Given the description of an element on the screen output the (x, y) to click on. 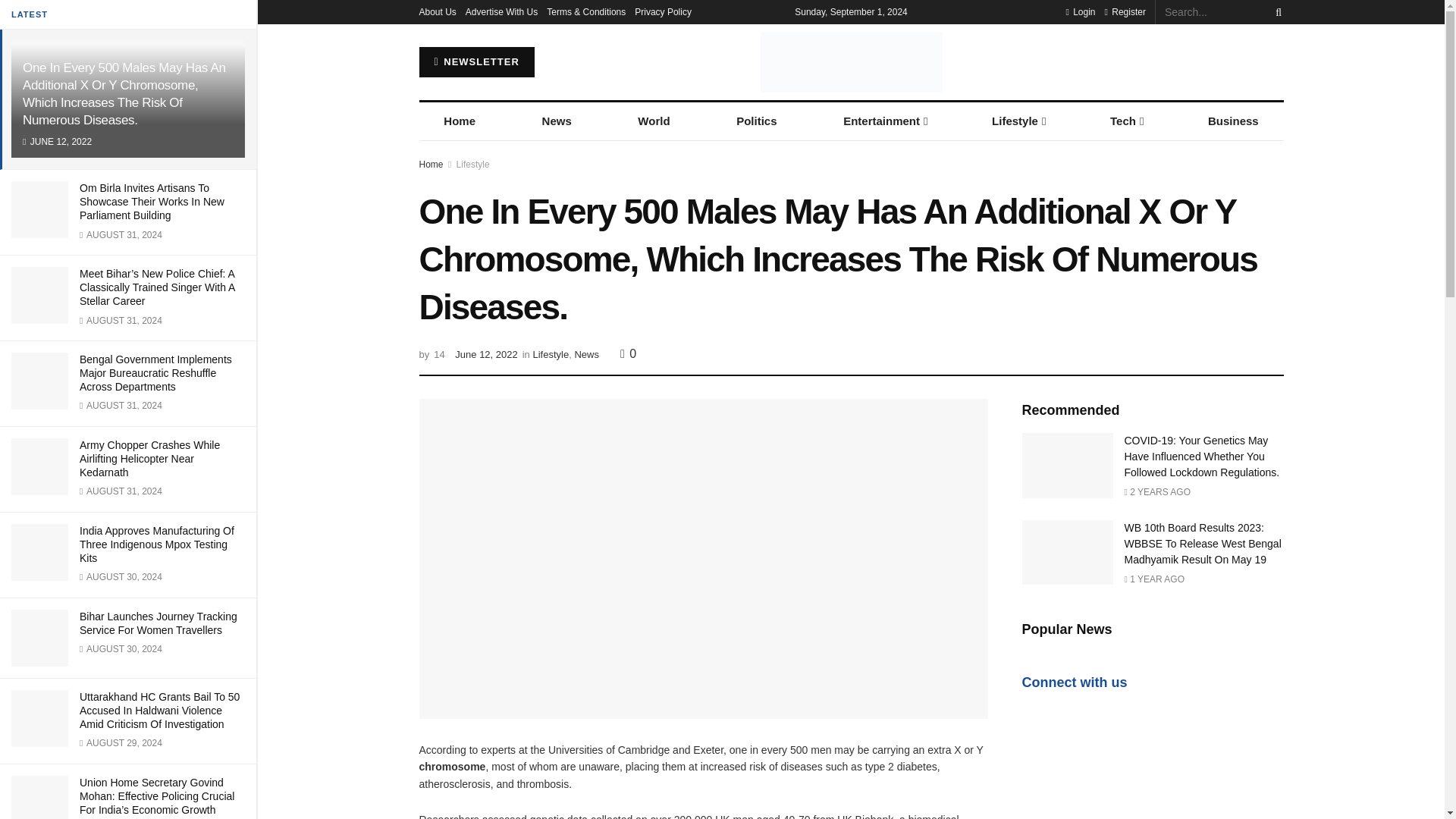
Privacy Policy (662, 12)
About Us (437, 12)
World (653, 121)
News (556, 121)
Bihar Launches Journey Tracking Service For Women Travellers (158, 623)
Login (1079, 12)
